Given the description of an element on the screen output the (x, y) to click on. 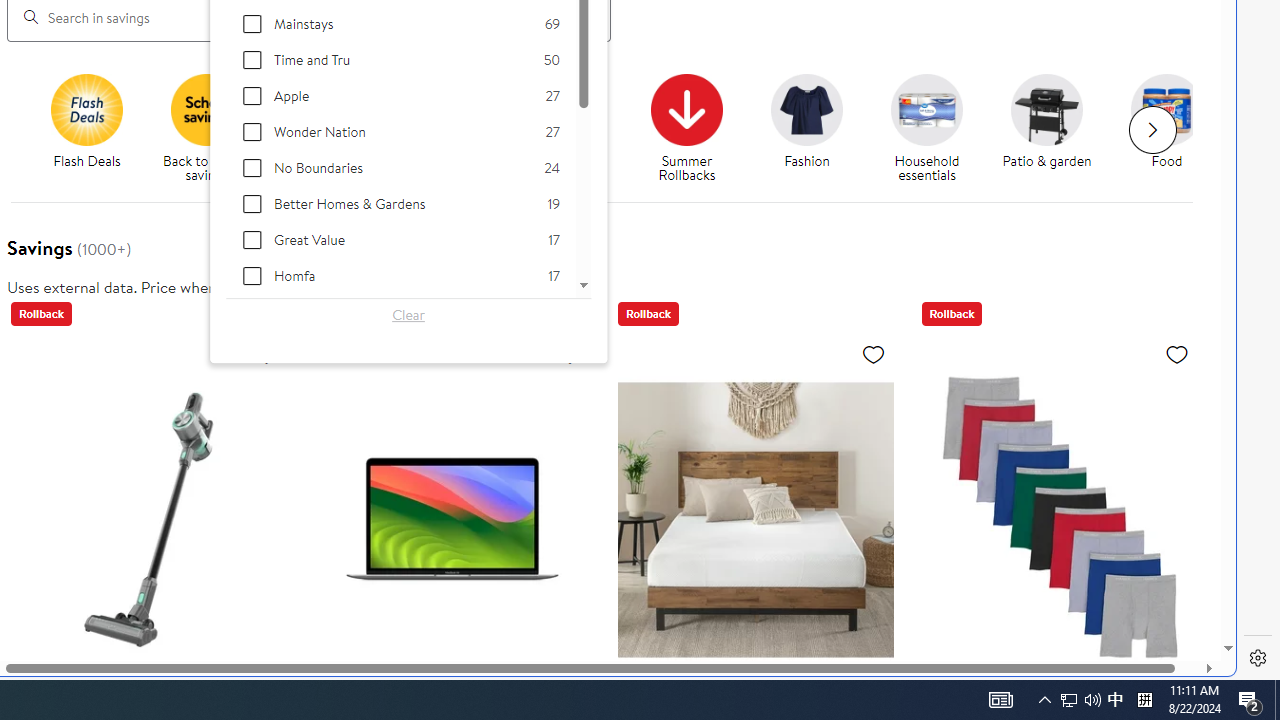
Summer Rollbacks Summer Rollbacks (686, 128)
Fashion (806, 109)
Next slide for chipModuleWithImages list (1152, 129)
Food (1174, 128)
Fashion Fashion (806, 122)
Patio & garden Patio & garden (1046, 122)
Back to college savings (335, 128)
Back to school savings (214, 128)
